Given the description of an element on the screen output the (x, y) to click on. 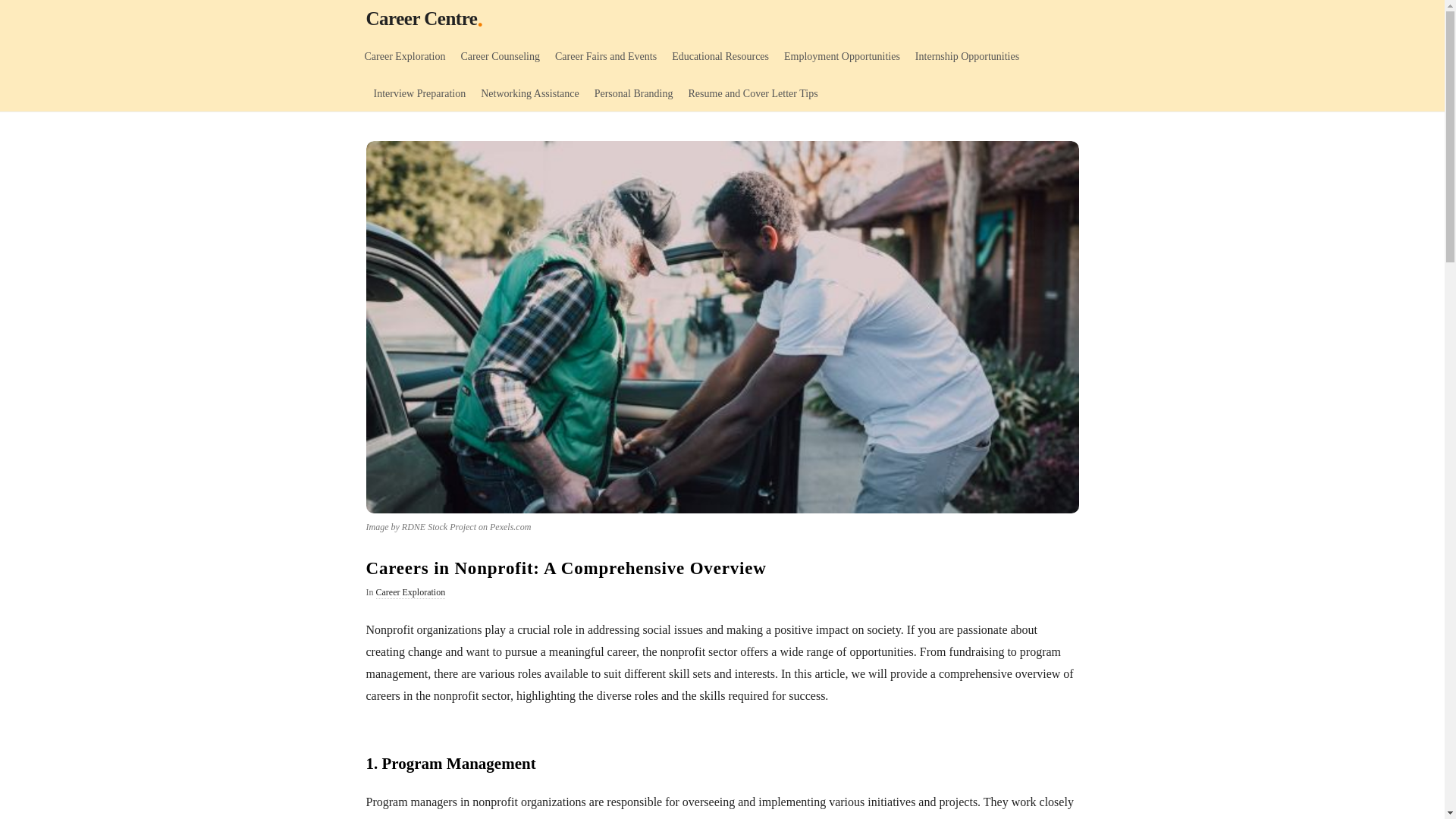
Resume and Cover Letter Tips (753, 92)
Internship Opportunities (966, 55)
Career Exploration (410, 592)
Networking Assistance (529, 92)
Career Counseling (499, 55)
Interview Preparation (419, 92)
Career Exploration (404, 55)
Employment Opportunities (841, 55)
Educational Resources (719, 55)
Personal Branding (633, 92)
Career Fairs and Events (605, 55)
